Given the description of an element on the screen output the (x, y) to click on. 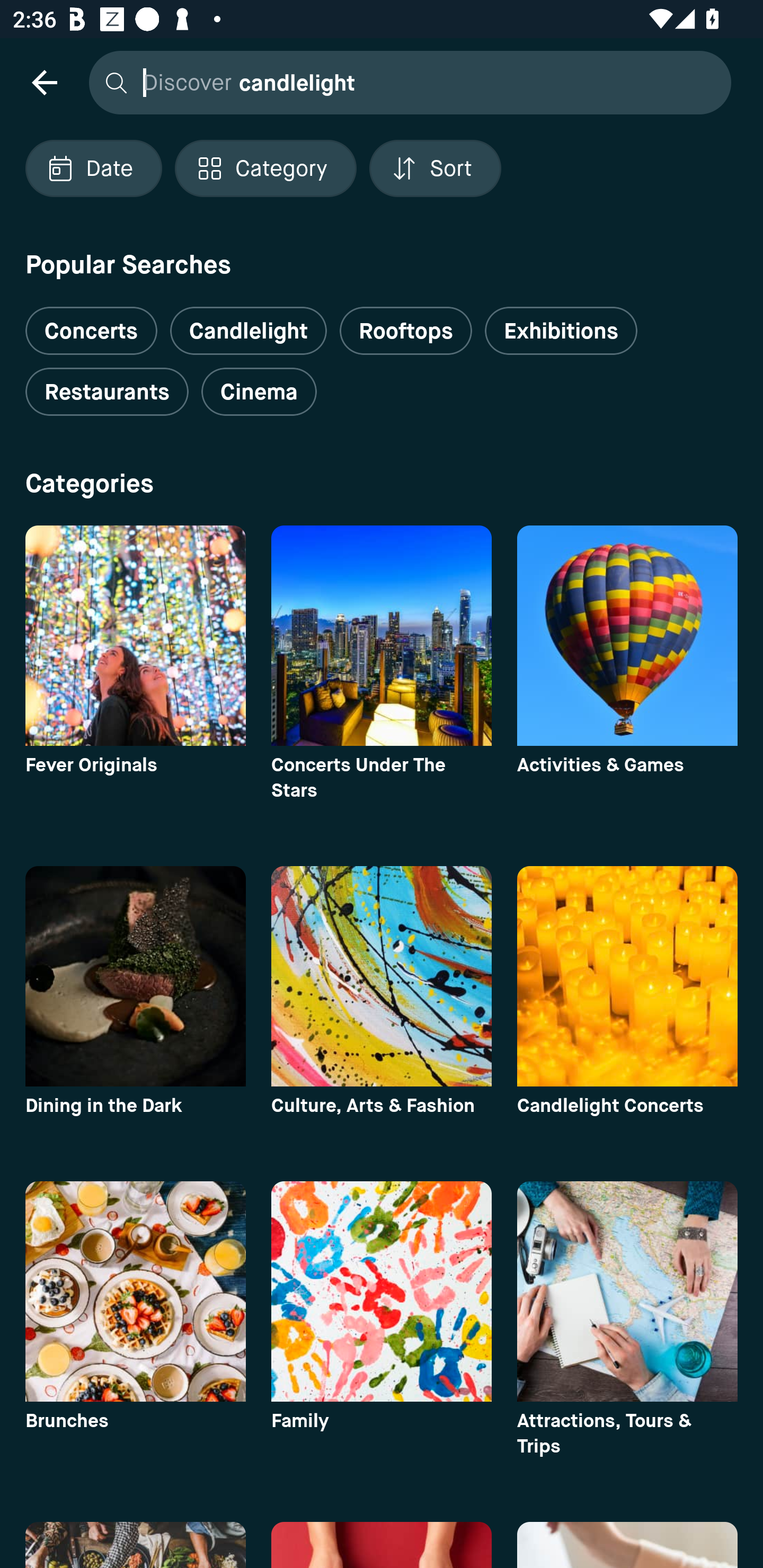
navigation icon (44, 81)
Discover candlelight (405, 81)
Localized description Date (93, 168)
Localized description Category (265, 168)
Localized description Sort (435, 168)
Concerts (91, 323)
Candlelight (248, 330)
Rooftops (405, 330)
Exhibitions (560, 330)
Restaurants (106, 391)
Cinema (258, 391)
category image (135, 635)
category image (381, 635)
category image (627, 635)
category image (135, 975)
category image (381, 975)
category image (627, 975)
category image (135, 1290)
category image (381, 1290)
category image (627, 1290)
